Given the description of an element on the screen output the (x, y) to click on. 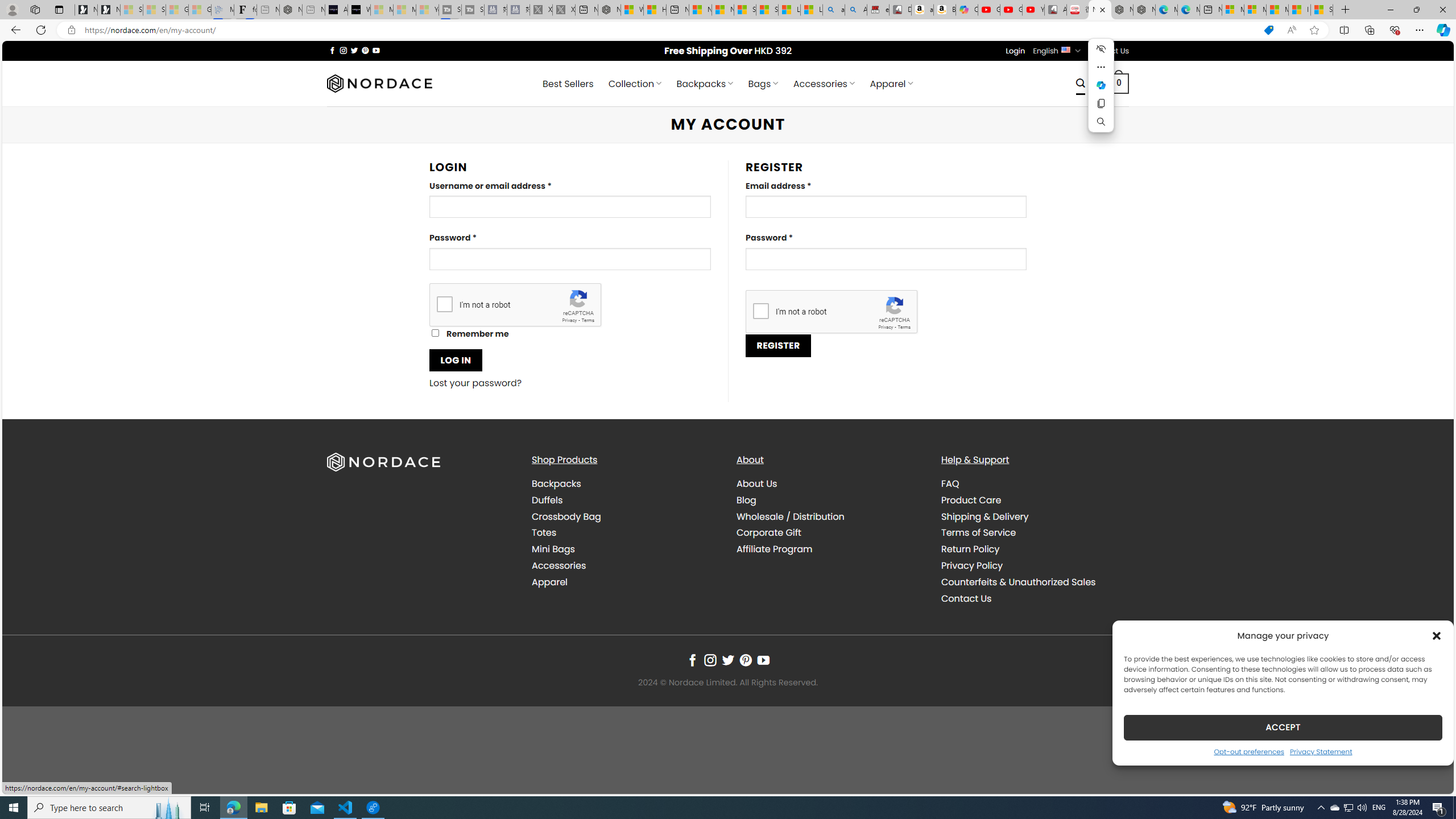
Accessories (625, 565)
Totes (543, 532)
Nordace (379, 83)
Terms (903, 326)
Search (1101, 122)
Product Care (1034, 499)
Close tab (1102, 9)
Wholesale / Distribution (790, 516)
Read aloud this page (Ctrl+Shift+U) (1291, 29)
Newsletter Sign Up (109, 9)
Microsoft Start (1276, 9)
Follow on YouTube (763, 659)
FAQ (1034, 483)
